Given the description of an element on the screen output the (x, y) to click on. 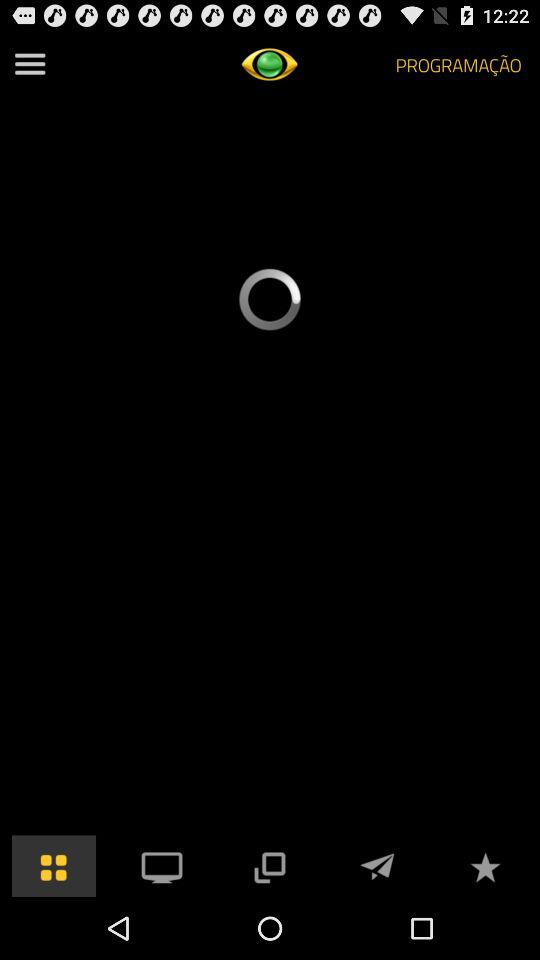
save to favorites (485, 865)
